Given the description of an element on the screen output the (x, y) to click on. 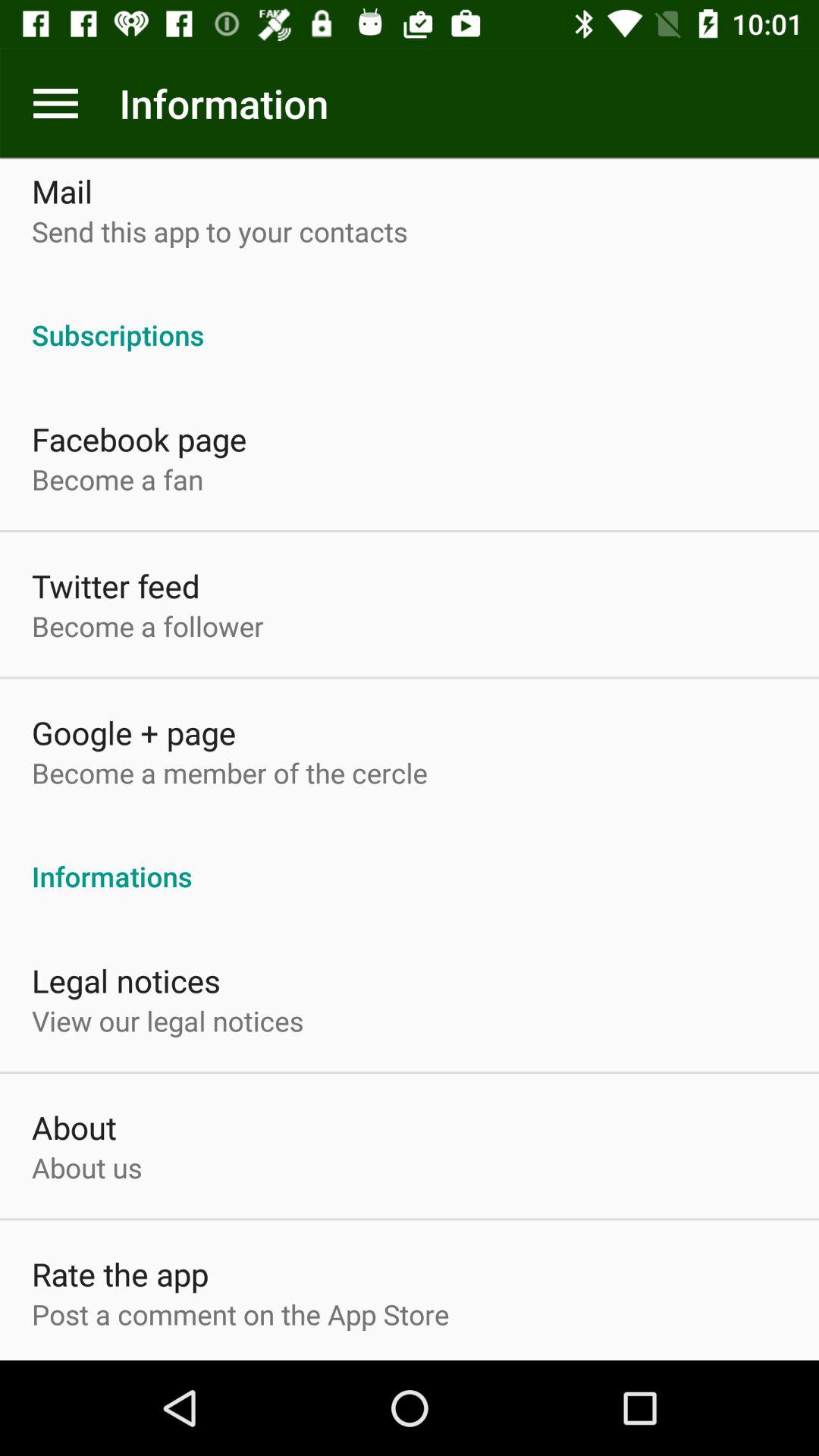
press app to the left of the information item (55, 103)
